Given the description of an element on the screen output the (x, y) to click on. 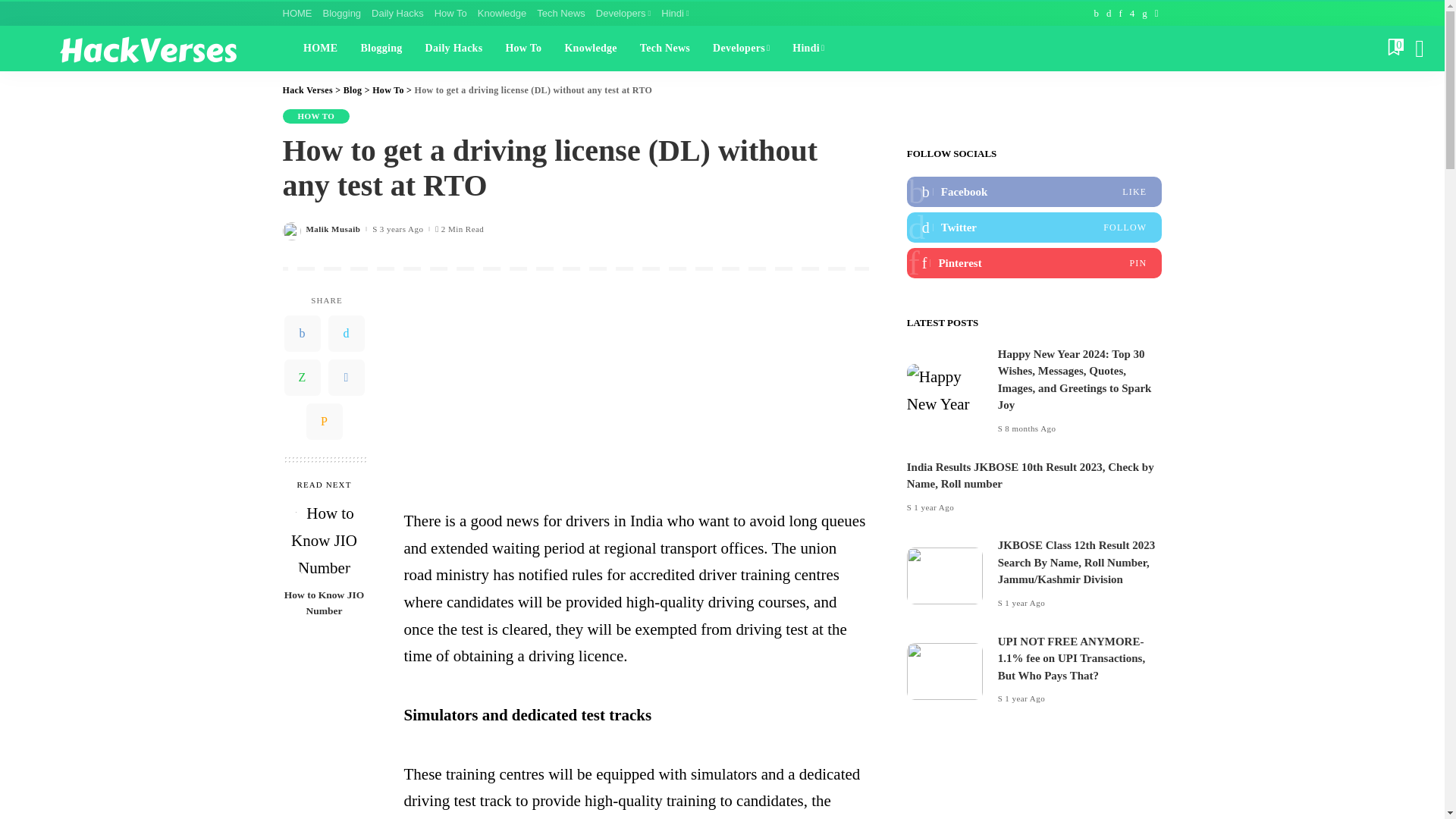
How To (450, 13)
Hindi (675, 13)
Knowledge (501, 13)
Daily Hacks (397, 13)
Tech News (561, 13)
Hack Verses (147, 48)
Blogging (341, 13)
HOME (299, 13)
Developers (623, 13)
